Given the description of an element on the screen output the (x, y) to click on. 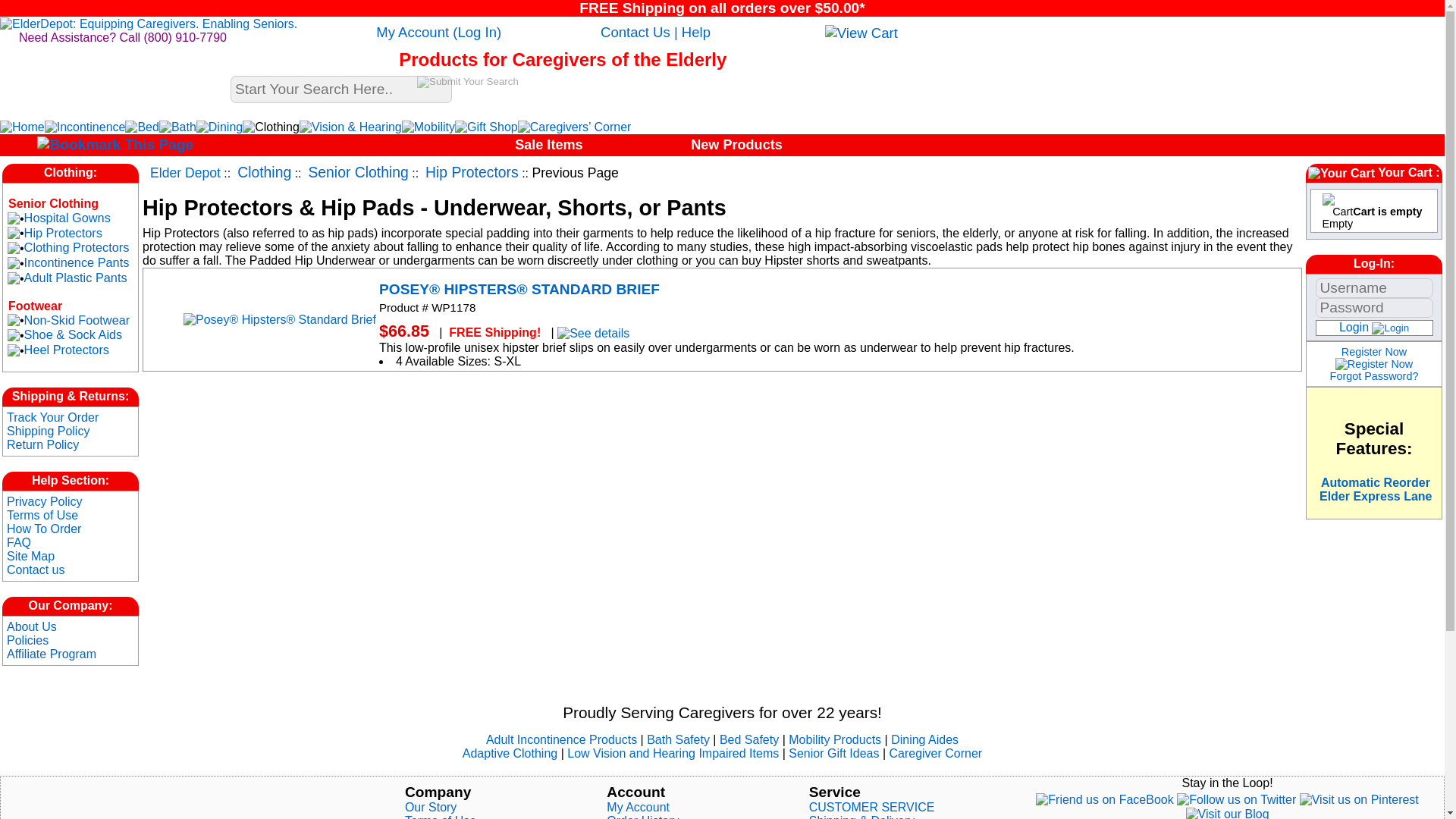
Sale Items (548, 144)
Heel Protectors (66, 349)
How To Order (44, 528)
Site Map (31, 555)
Elder Depot (185, 172)
FAQ (18, 542)
Hospital Gowns (67, 217)
Privacy Policy (44, 501)
Track Your Order (53, 417)
Terms of Use (42, 514)
New Products (736, 144)
Non-Skid Footwear (77, 319)
Shipping Policy (47, 431)
Bookmark This Page (115, 143)
Policies (27, 640)
